Given the description of an element on the screen output the (x, y) to click on. 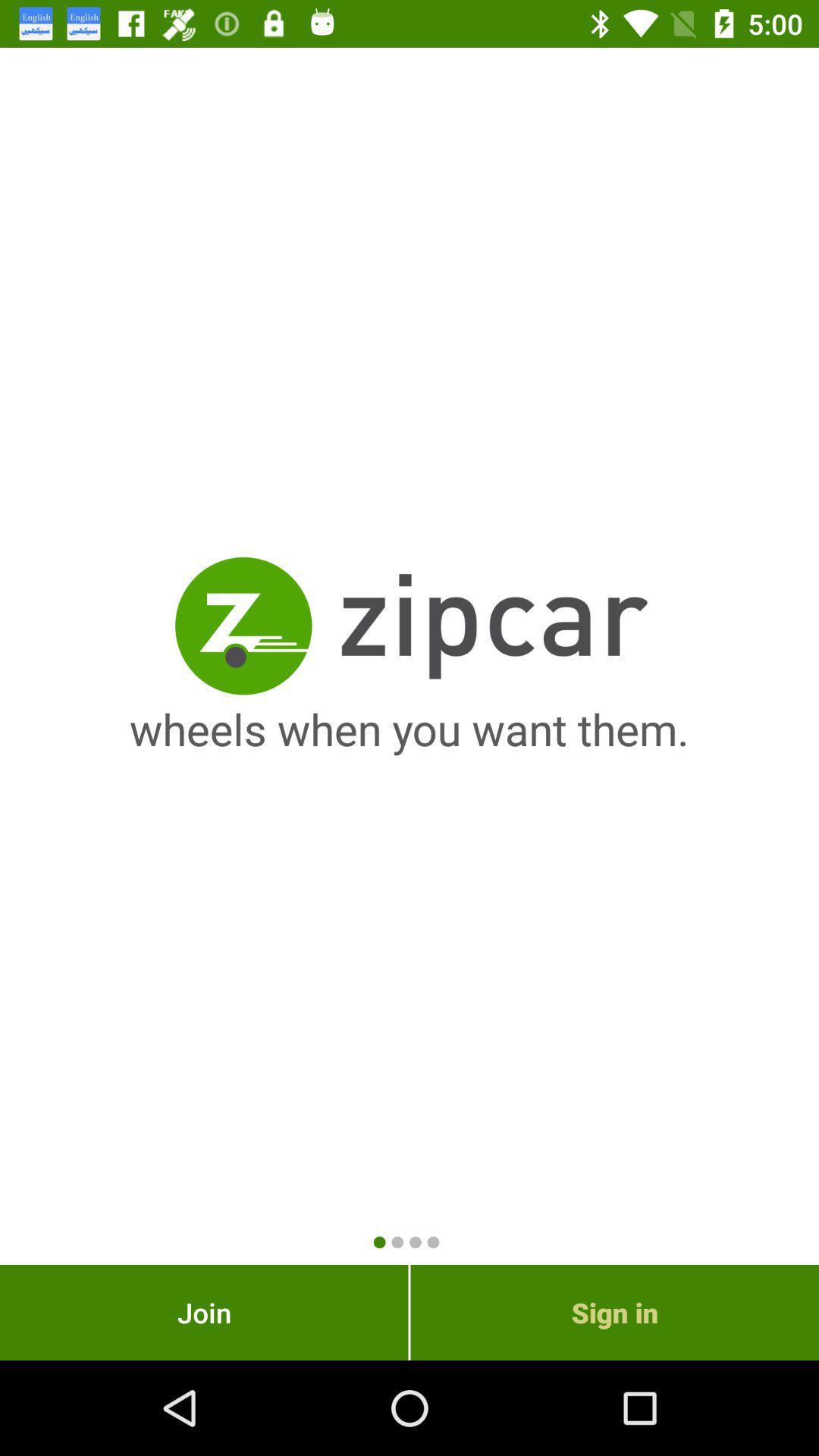
launch the icon next to join (614, 1312)
